Given the description of an element on the screen output the (x, y) to click on. 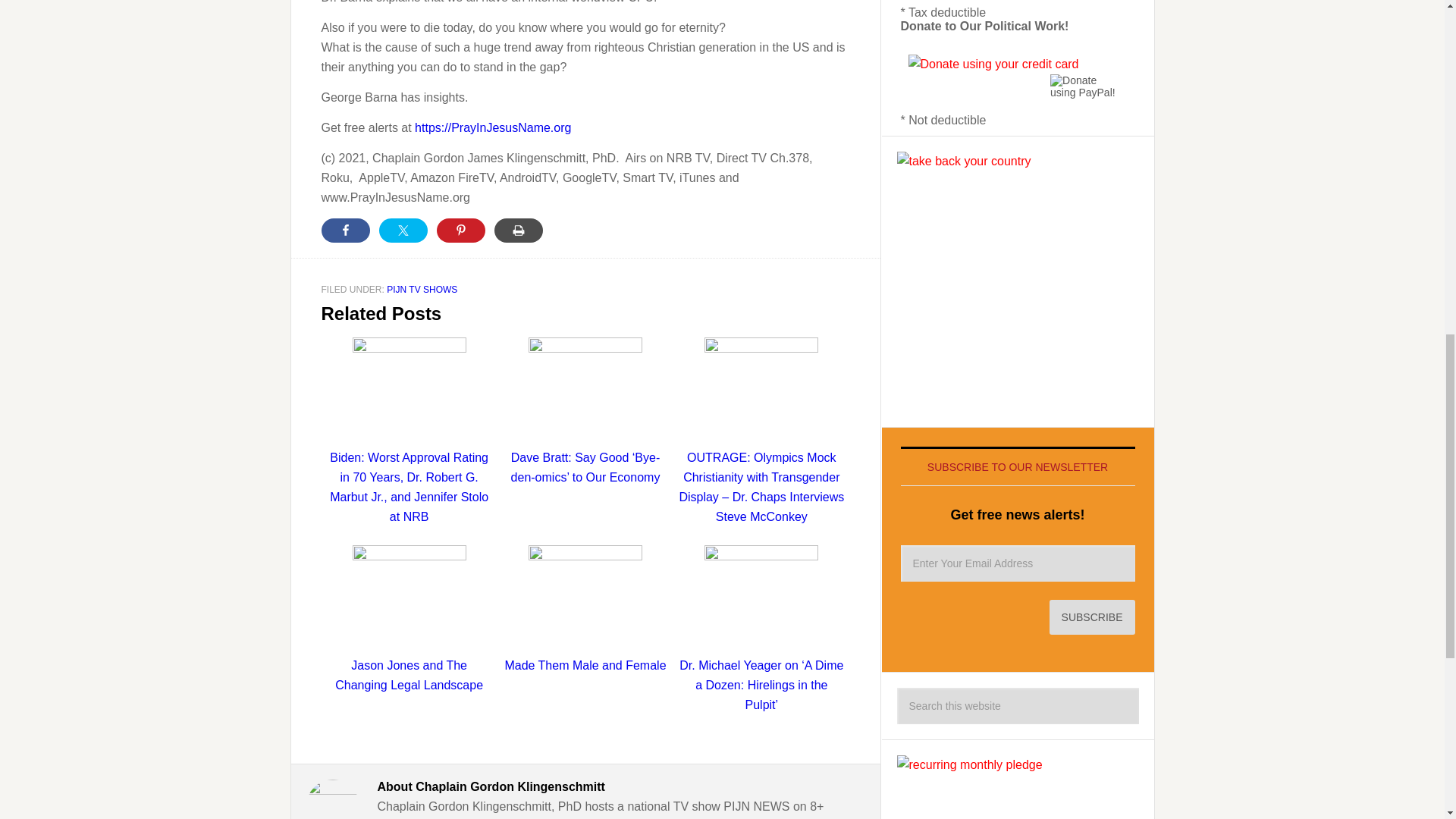
Link to: Jason Jones and The Changing Legal Landscape (409, 622)
Jason Jones and The Changing Legal Landscape (409, 622)
PIJN TV SHOWS (422, 288)
Share on Pinterest (460, 230)
Share on Twitter (403, 230)
Made Them Male and Female (585, 612)
Link to: Made Them Male and Female (585, 612)
Print this Page (519, 230)
